Given the description of an element on the screen output the (x, y) to click on. 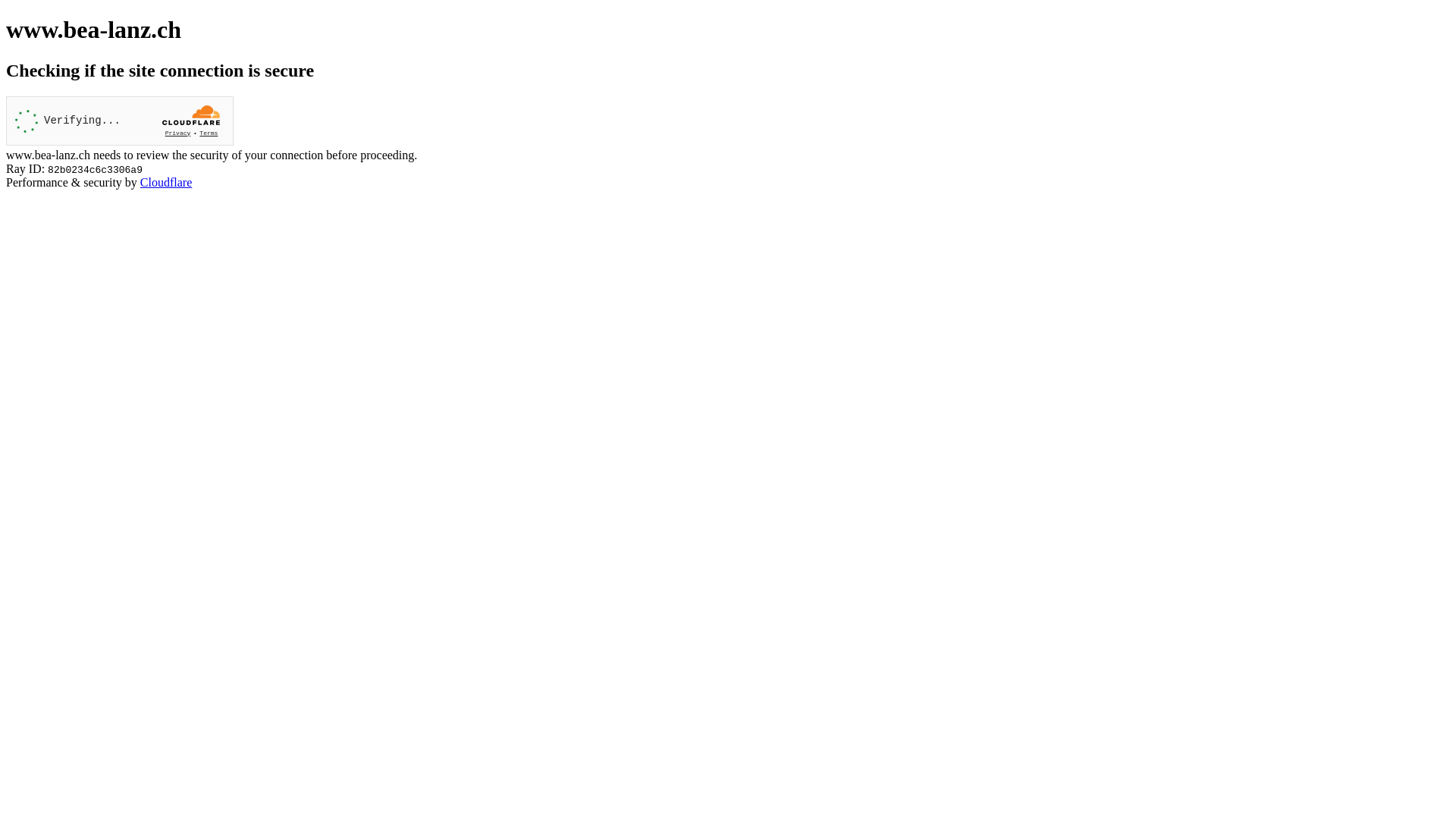
Widget containing a Cloudflare security challenge Element type: hover (119, 120)
Cloudflare Element type: text (165, 181)
